Given the description of an element on the screen output the (x, y) to click on. 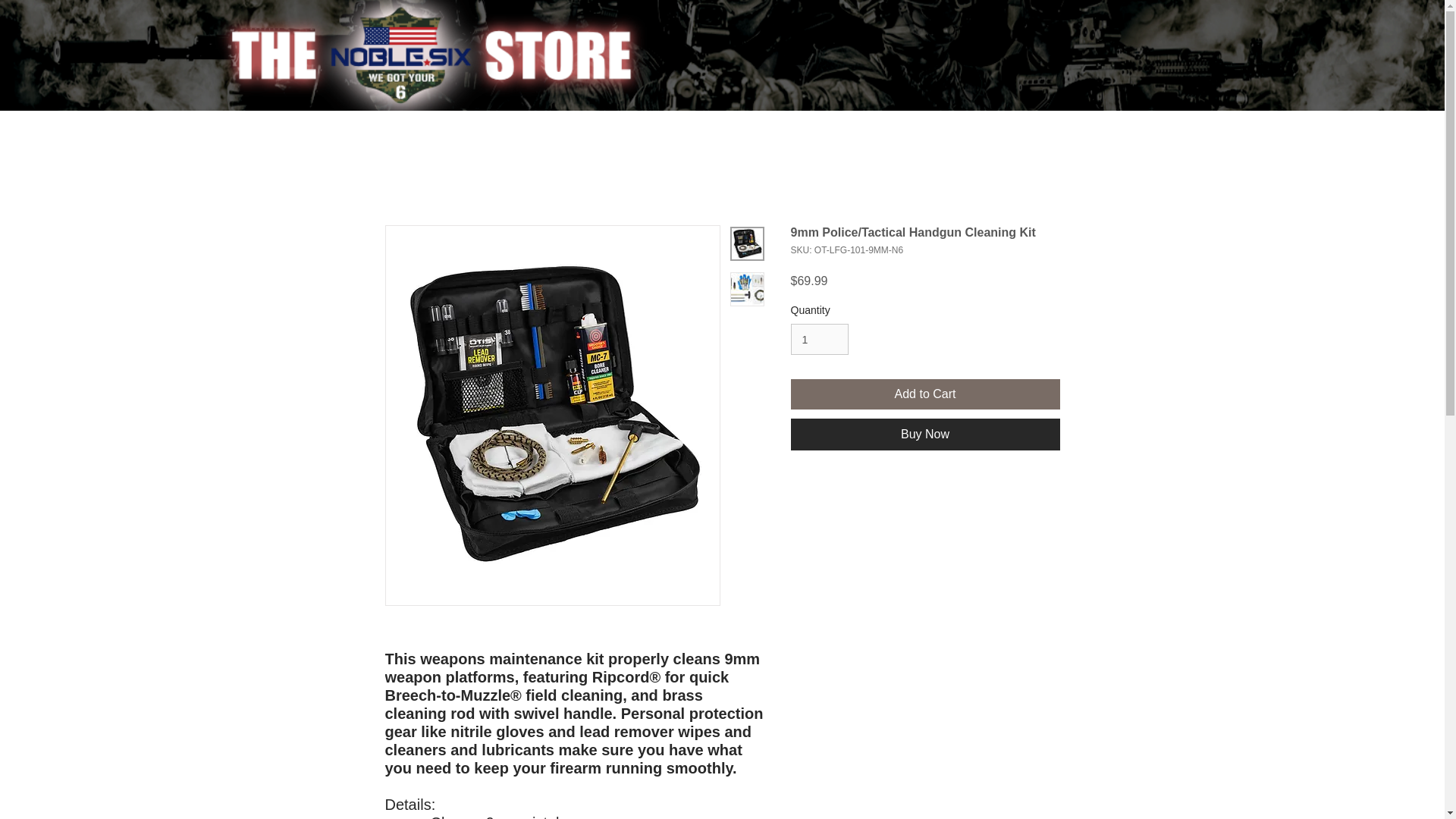
Add to Cart (924, 394)
1 (818, 338)
Buy Now (924, 434)
